Given the description of an element on the screen output the (x, y) to click on. 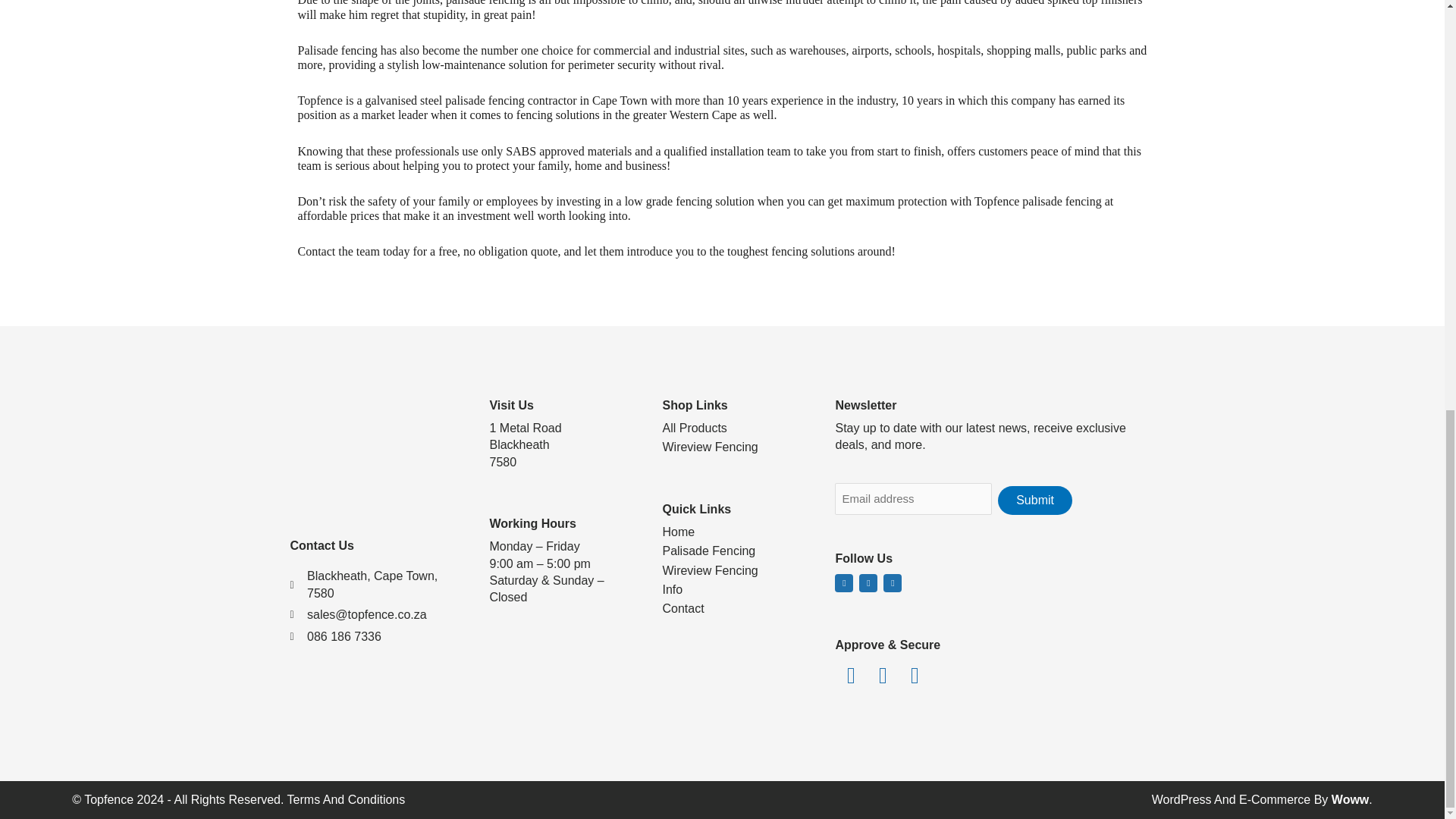
086 186 7336 (376, 636)
Home (735, 532)
Wireview Fencing (735, 446)
Wireview Fencing (735, 570)
Info (735, 589)
Submit (1034, 500)
Contact (735, 608)
Palisade Fencing (735, 550)
All Products (735, 428)
